Given the description of an element on the screen output the (x, y) to click on. 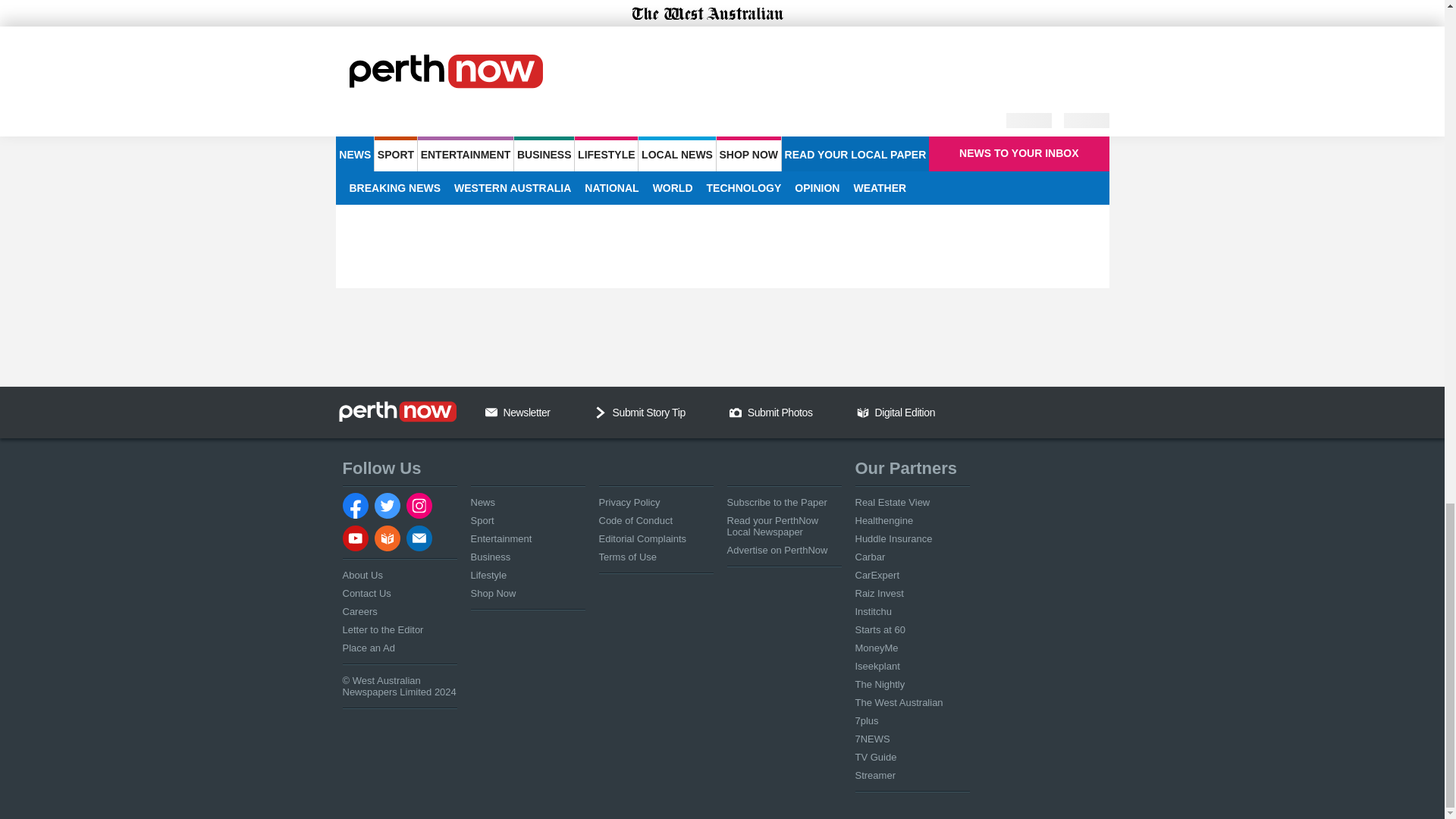
Get Digital Edition (863, 412)
Camera Icon (735, 412)
Chevron Down Icon (600, 412)
Email Us (490, 412)
